Given the description of an element on the screen output the (x, y) to click on. 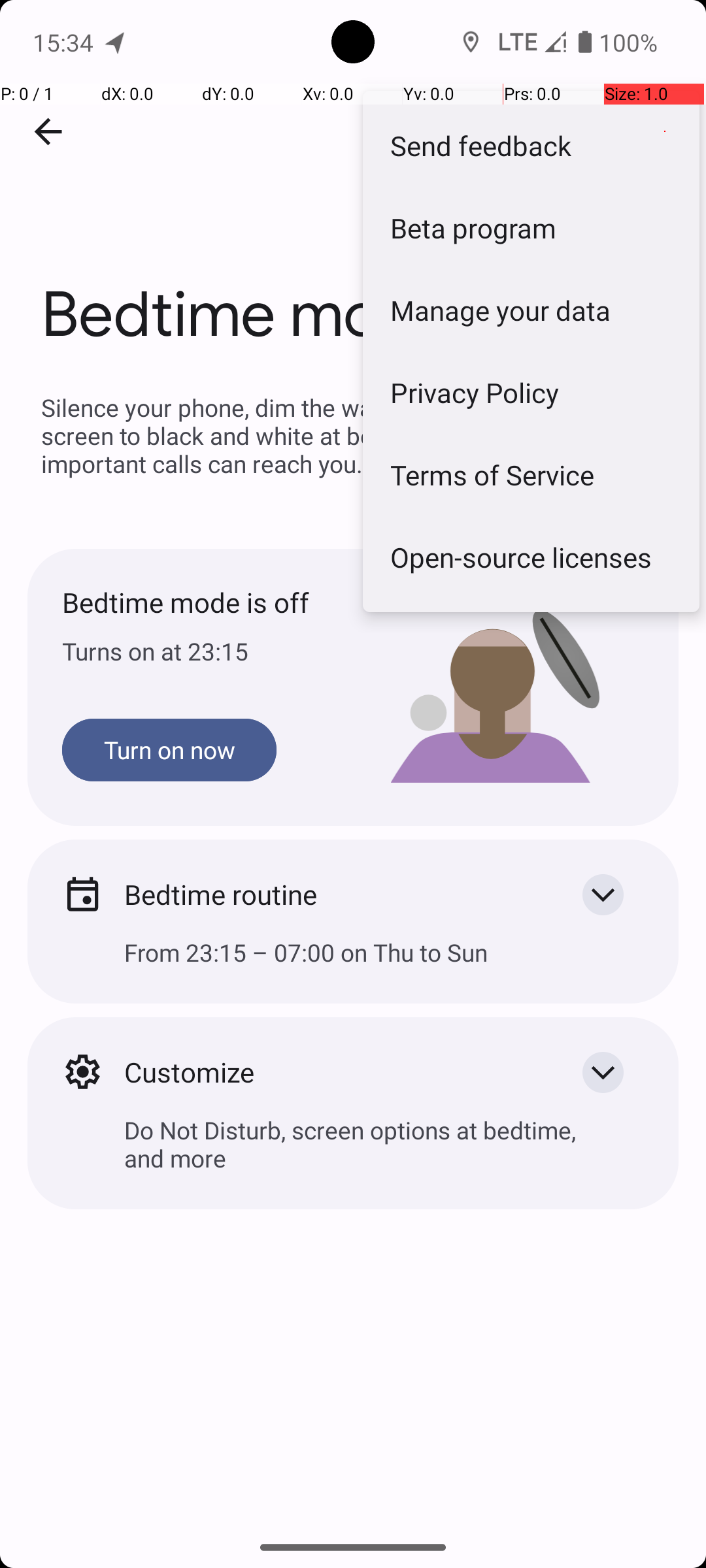
Send feedback Element type: android.widget.TextView (531, 144)
Beta program Element type: android.widget.TextView (531, 227)
Manage your data Element type: android.widget.TextView (531, 309)
Privacy Policy Element type: android.widget.TextView (531, 391)
Terms of Service Element type: android.widget.TextView (531, 474)
Open-source licenses Element type: android.widget.TextView (531, 556)
